Given the description of an element on the screen output the (x, y) to click on. 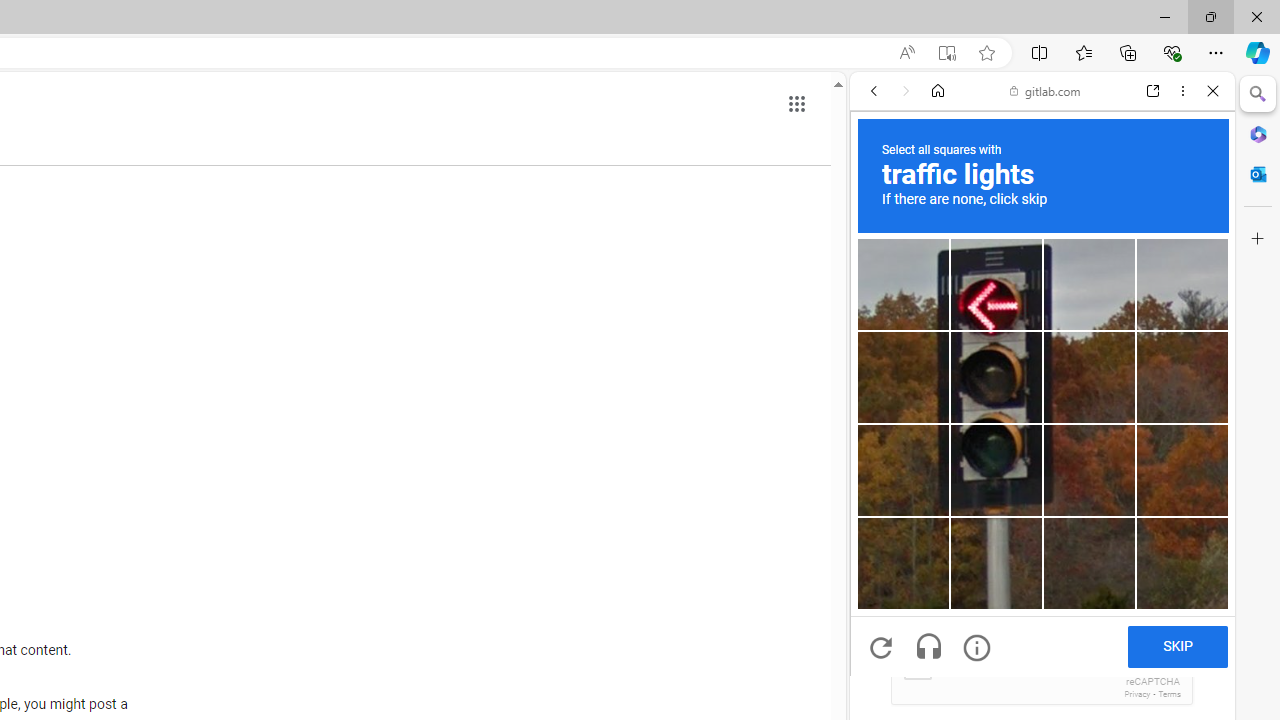
Search Filter, ALL (881, 228)
Confirmation Page (1042, 684)
Login (1042, 494)
Resend confirmation instructions (1042, 443)
